Given the description of an element on the screen output the (x, y) to click on. 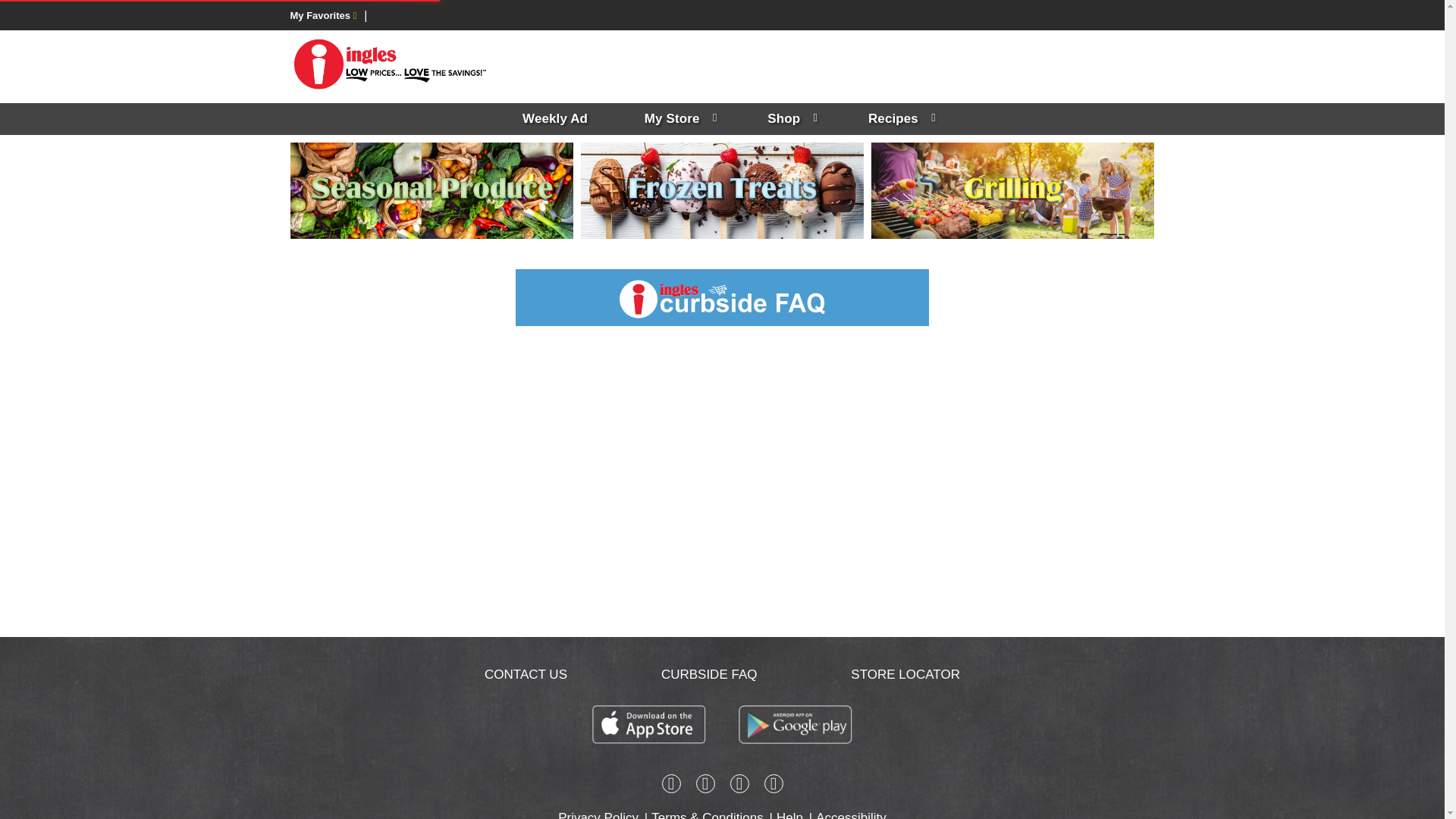
Seasonal Produce (430, 190)
facebook (670, 785)
Frozen Treats (721, 190)
Recipes (898, 119)
youtube (773, 785)
Grilling (1012, 190)
My Favorites  (322, 15)
My Store (677, 119)
CONTACT US (525, 674)
instagram (704, 785)
Shop (789, 119)
Weekly Ad (554, 119)
STORE LOCATOR (904, 674)
twitter (738, 785)
CURBSIDE FAQ (709, 674)
